Given the description of an element on the screen output the (x, y) to click on. 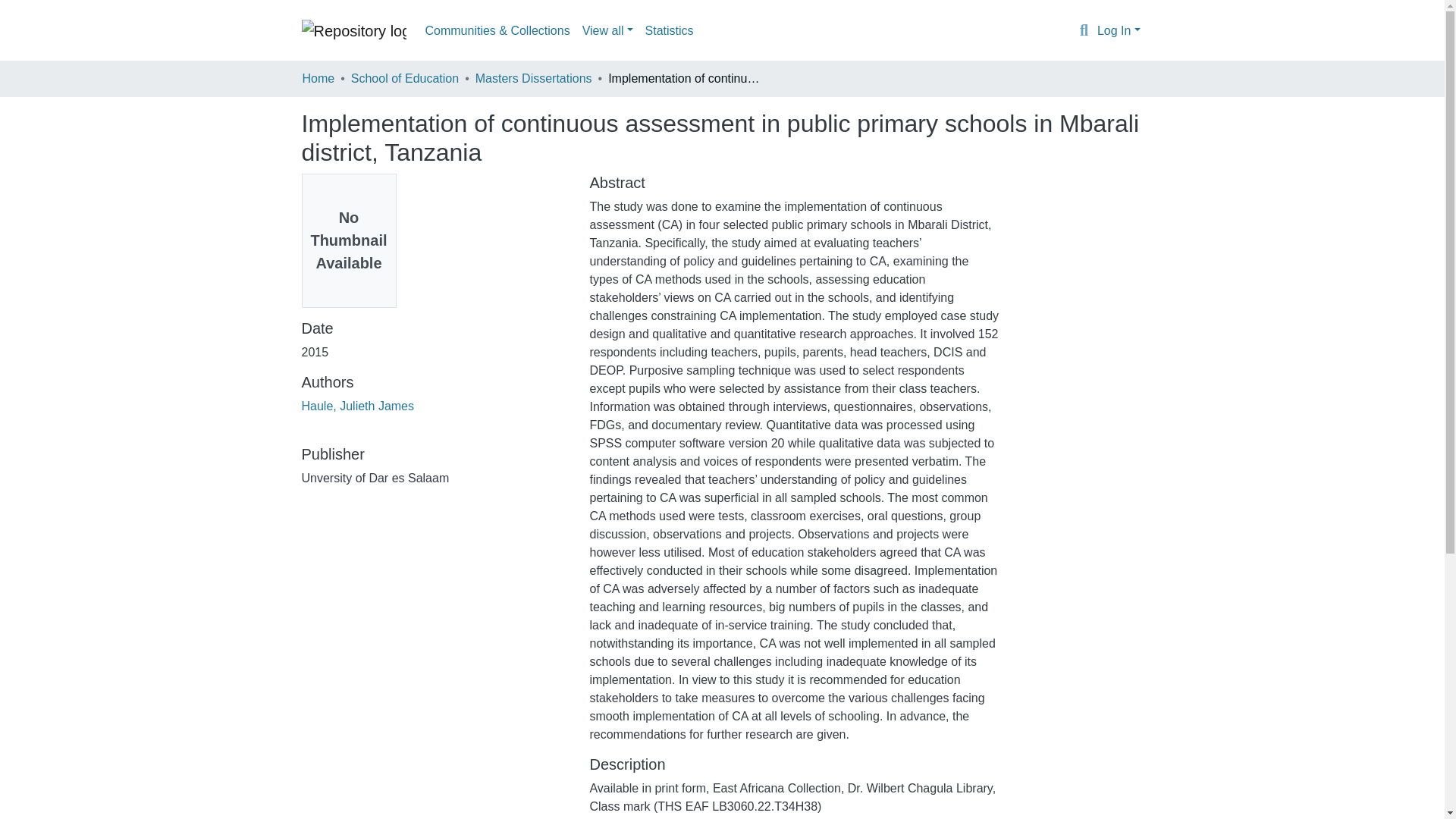
Statistics (669, 30)
School of Education (404, 78)
Home (317, 78)
Haule, Julieth James (357, 405)
Masters Dissertations (534, 78)
Log In (1118, 30)
View all (607, 30)
Statistics (669, 30)
Search (1084, 30)
